Given the description of an element on the screen output the (x, y) to click on. 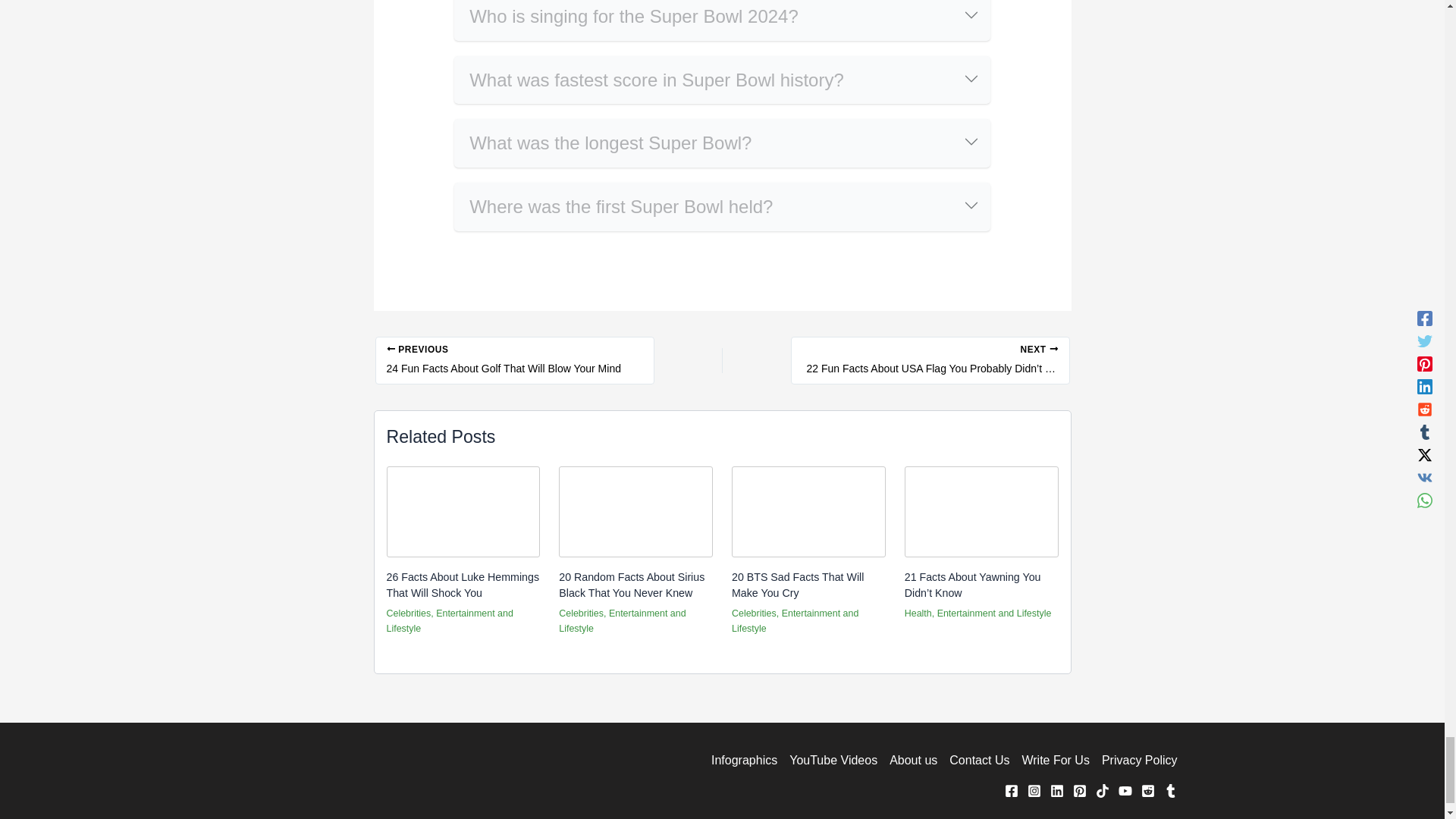
on (459, 187)
on (459, 123)
24 Fun Facts About Golf That Will Blow Your Mind (513, 360)
on (459, 61)
